Given the description of an element on the screen output the (x, y) to click on. 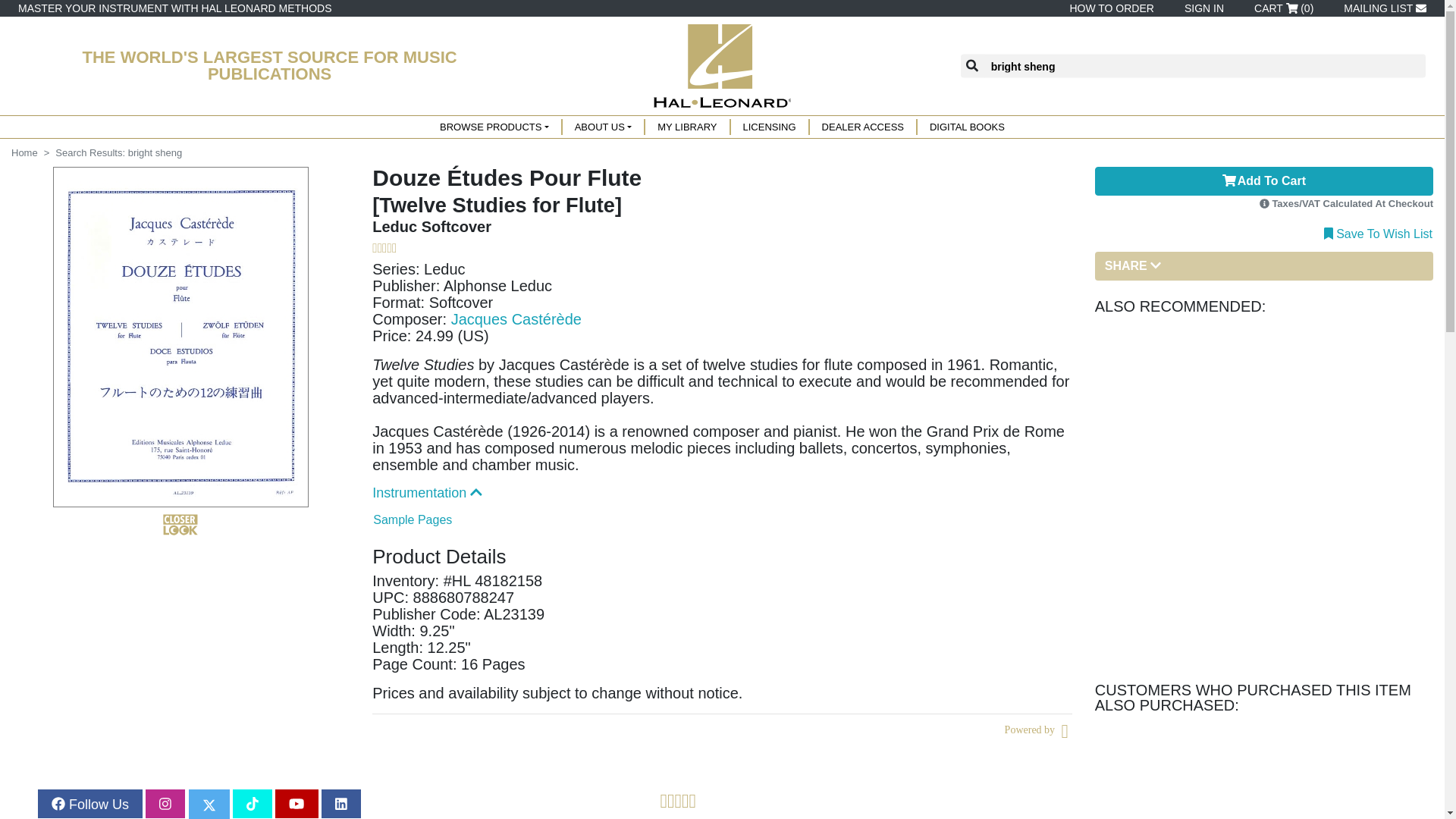
SIGN IN (1200, 8)
Add to Wish List (1377, 232)
bright sheng (1204, 65)
Closer Look (180, 524)
HOW TO ORDER (1108, 8)
MAILING LIST (1382, 8)
bright sheng (1204, 65)
Add to Cart (1263, 181)
MASTER YOUR INSTRUMENT WITH HAL LEONARD METHODS (174, 8)
